Given the description of an element on the screen output the (x, y) to click on. 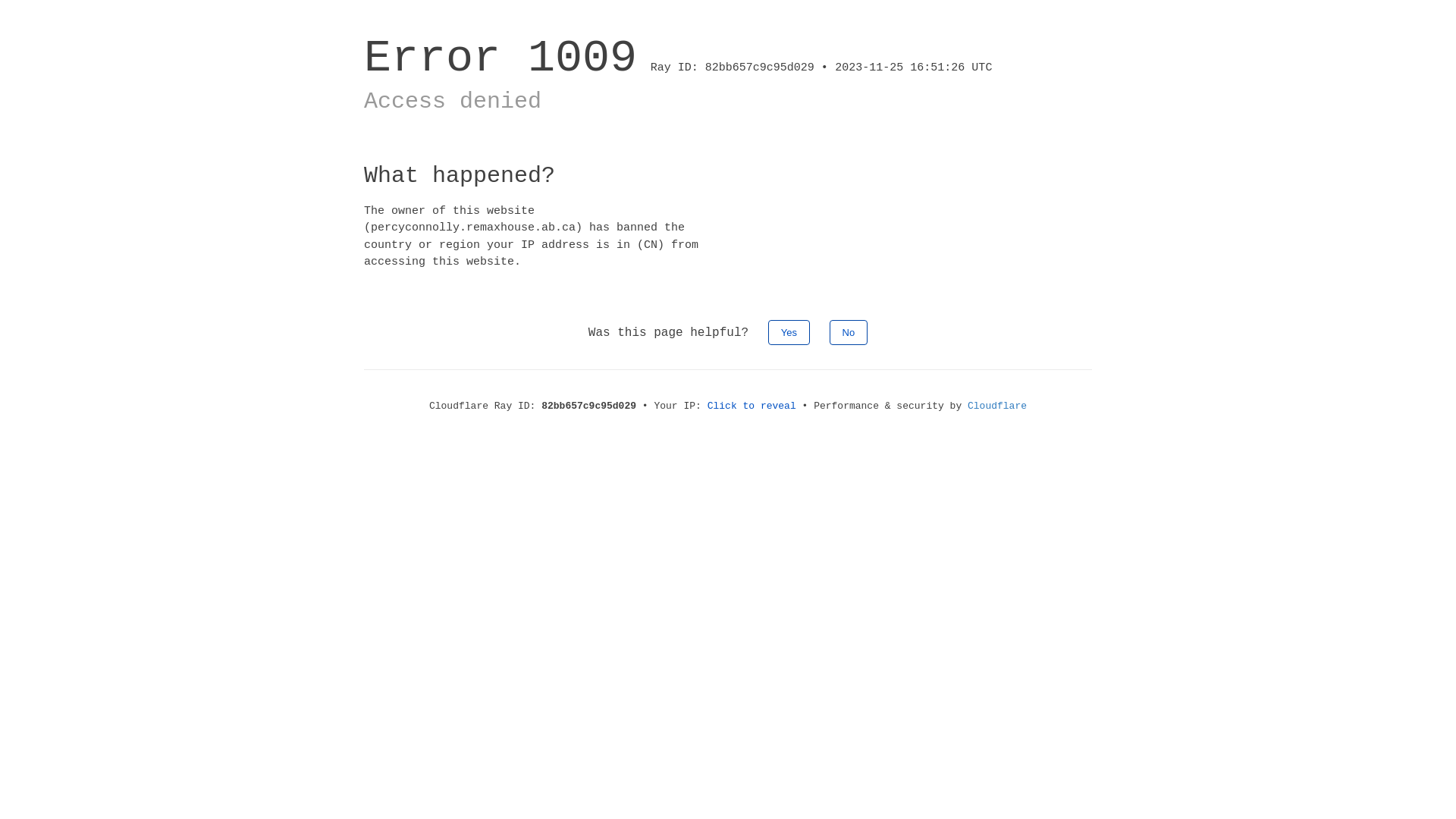
Cloudflare Element type: text (996, 405)
Yes Element type: text (788, 332)
No Element type: text (848, 332)
Click to reveal Element type: text (751, 405)
